Given the description of an element on the screen output the (x, y) to click on. 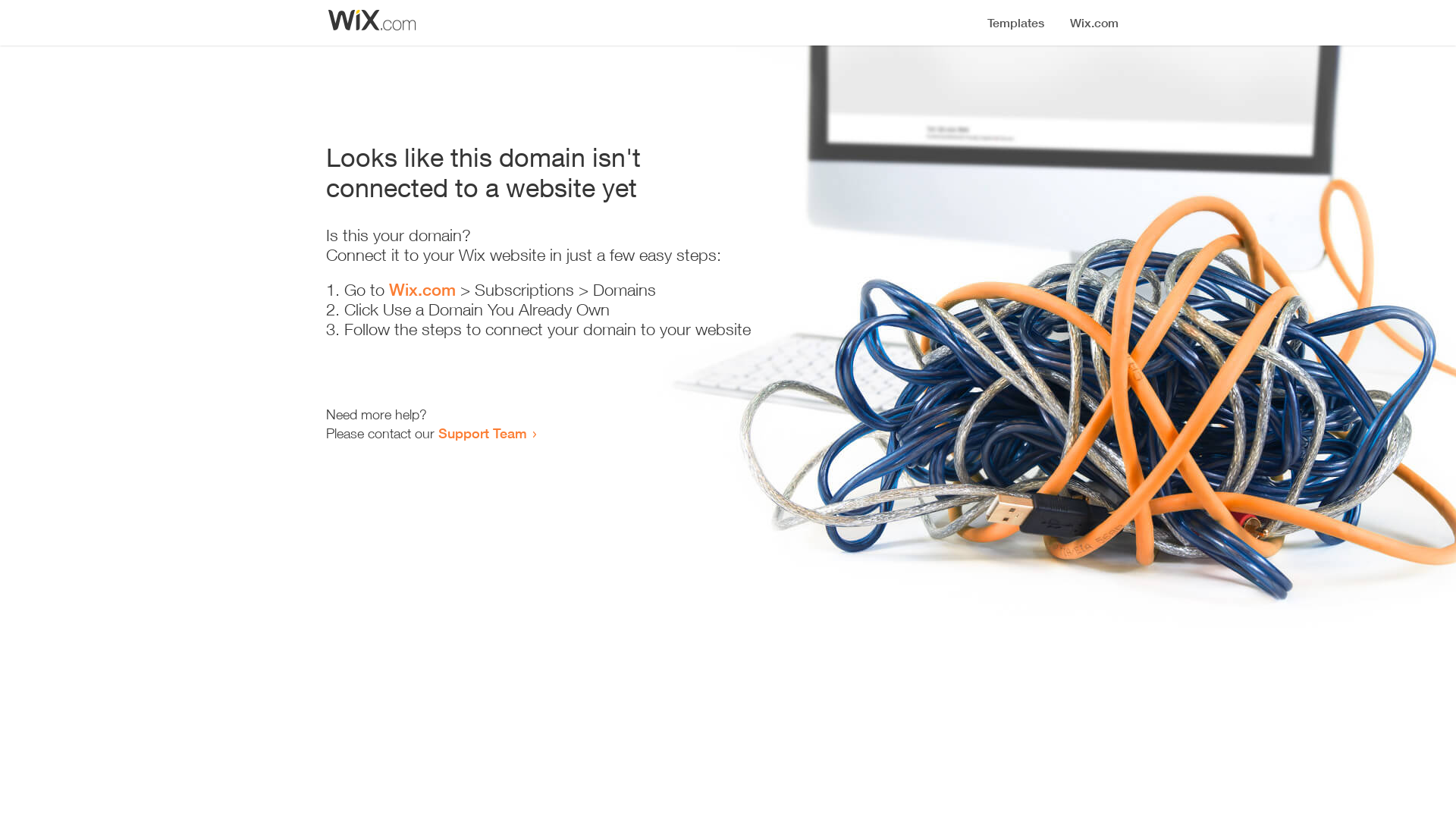
Support Team Element type: text (482, 432)
Wix.com Element type: text (422, 289)
